Given the description of an element on the screen output the (x, y) to click on. 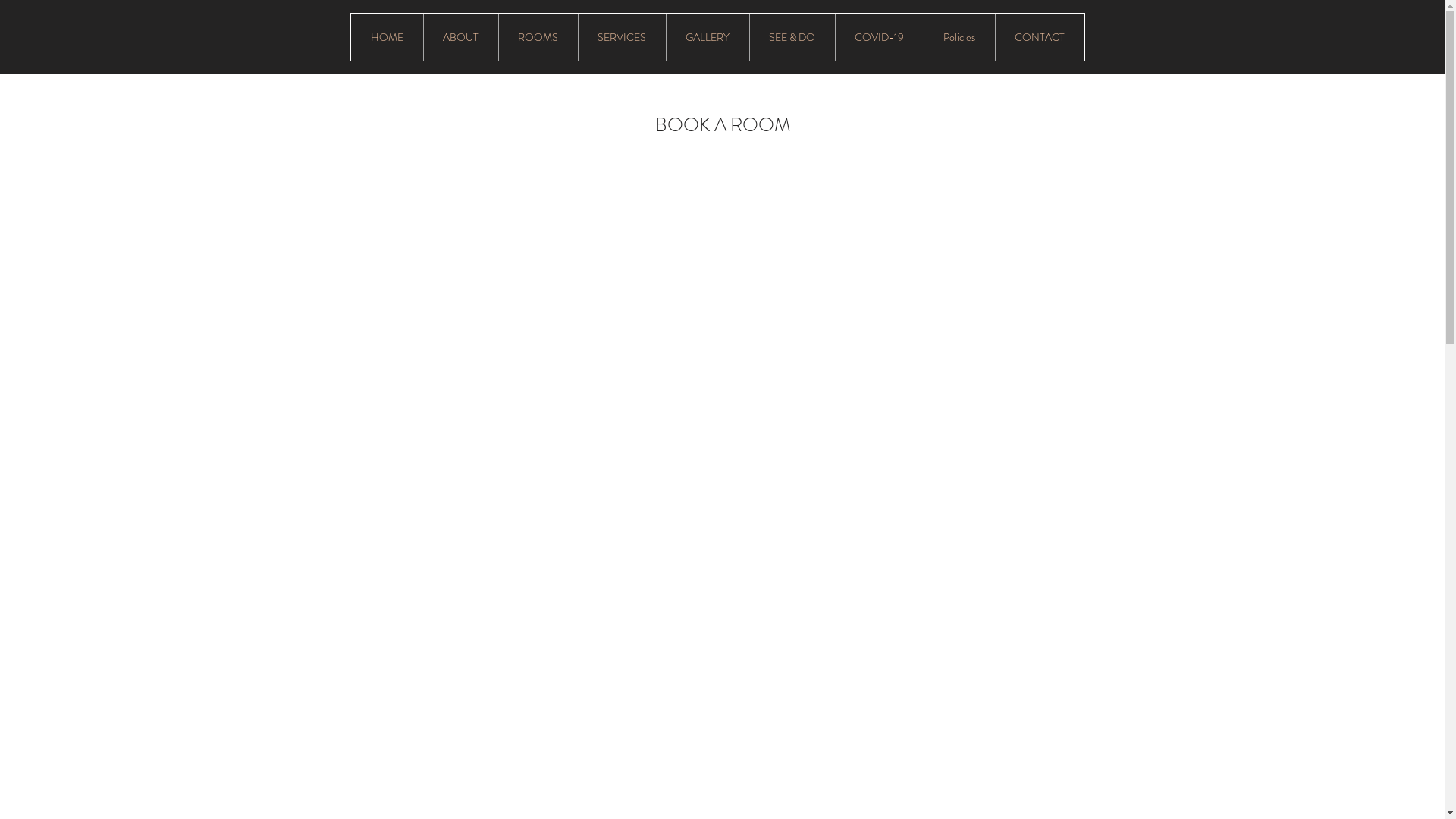
ABOUT Element type: text (460, 36)
CONTACT Element type: text (1039, 36)
GALLERY Element type: text (707, 36)
Policies Element type: text (958, 36)
Book a Room Element type: text (1045, 112)
SERVICES Element type: text (621, 36)
SEE & DO Element type: text (791, 36)
COVID-19 Element type: text (878, 36)
ROOMS Element type: text (537, 36)
HOME Element type: text (386, 36)
